Given the description of an element on the screen output the (x, y) to click on. 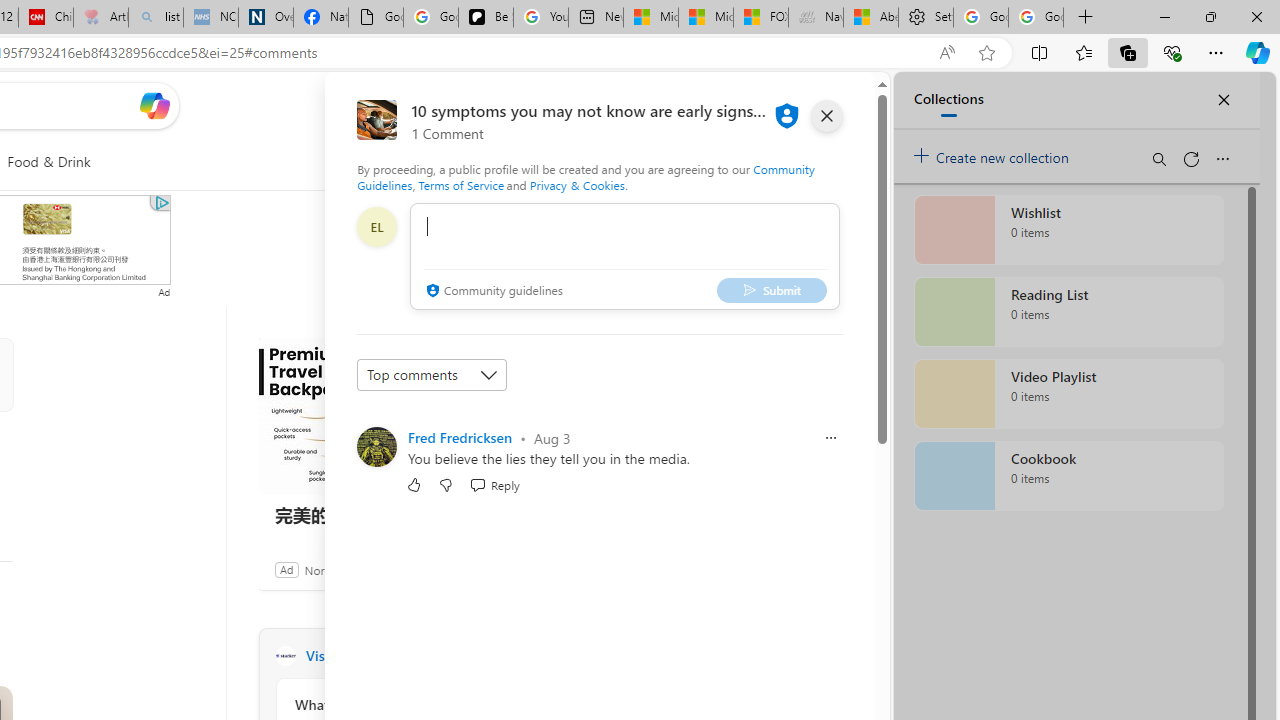
Navy Quest (815, 17)
Terms of Service (461, 184)
Profile Picture (376, 446)
Fred Fredricksen (460, 437)
Visit Stacker website (532, 655)
list of asthma inhalers uk - Search - Sleeping (156, 17)
Arthritis: Ask Health Professionals - Sleeping (100, 17)
Open settings (830, 105)
